Given the description of an element on the screen output the (x, y) to click on. 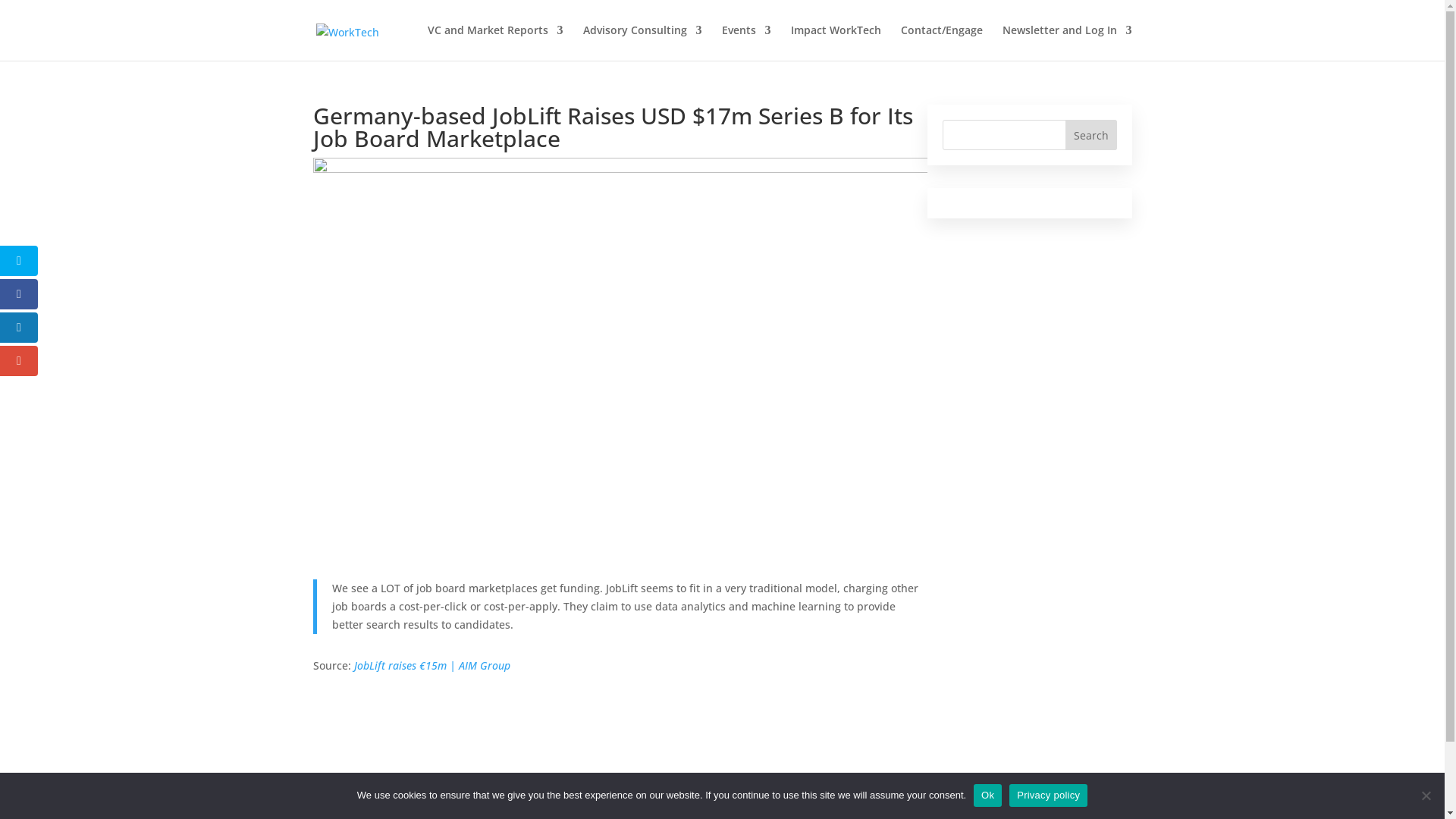
VC and Market Reports Element type: text (495, 42)
Contact & Briefings Element type: text (975, 800)
Contact/Engage Element type: text (941, 42)
Home Element type: text (640, 800)
My Account Element type: text (881, 800)
WorkTech Story Element type: text (711, 800)
Impact WorkTech Element type: text (835, 42)
Newsletter and Log In Element type: text (1067, 42)
Memberships Element type: text (801, 800)
Advisory Consulting Element type: text (641, 42)
Terms of Service Element type: text (1081, 800)
No Element type: hover (1425, 795)
Ok Element type: text (987, 795)
Search Element type: text (1091, 134)
Privacy policy Element type: text (1048, 795)
Events Element type: text (746, 42)
